Given the description of an element on the screen output the (x, y) to click on. 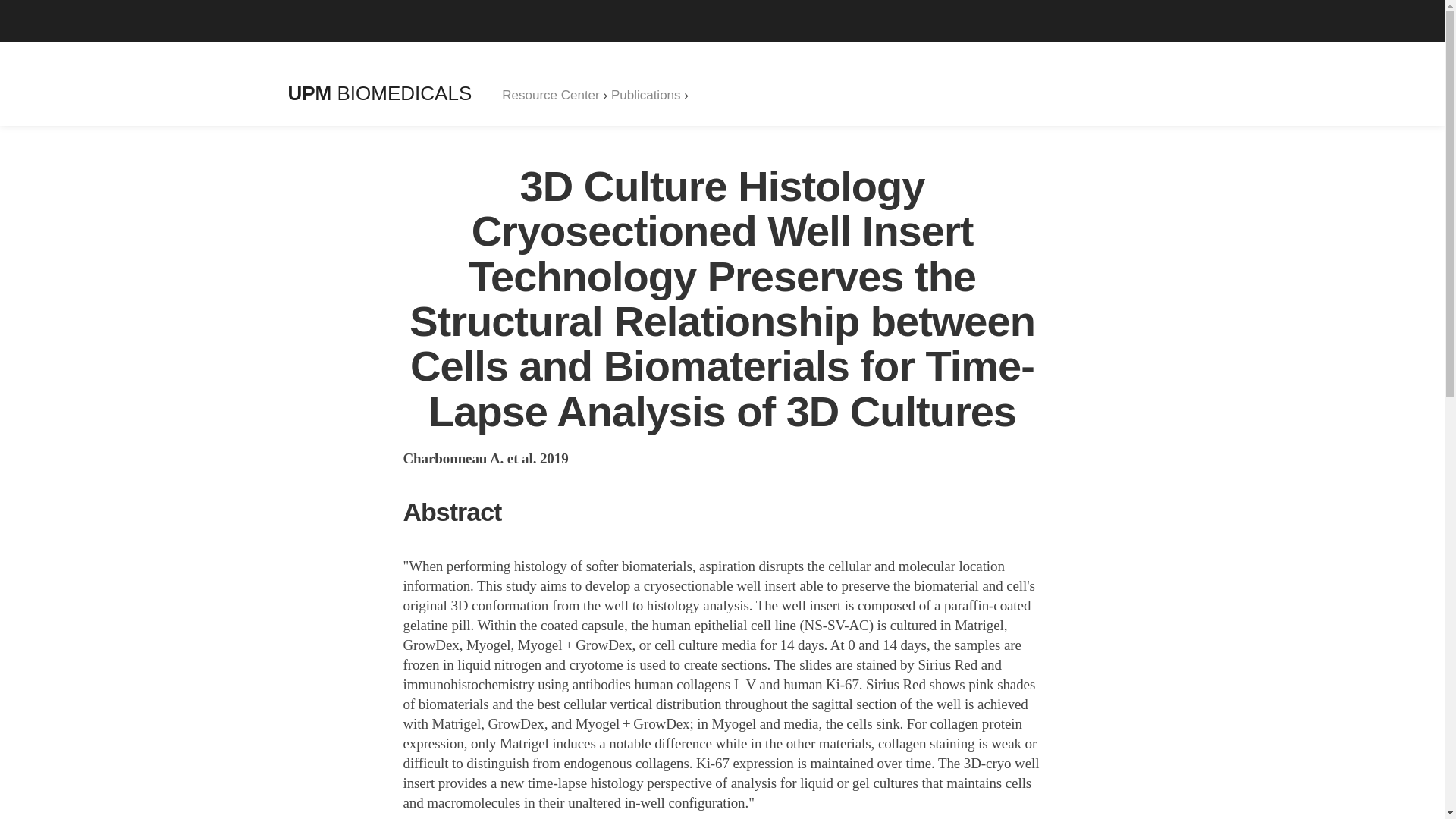
Resource Center (550, 94)
UPM BIOMEDICALS (379, 92)
Publications (646, 94)
